Given the description of an element on the screen output the (x, y) to click on. 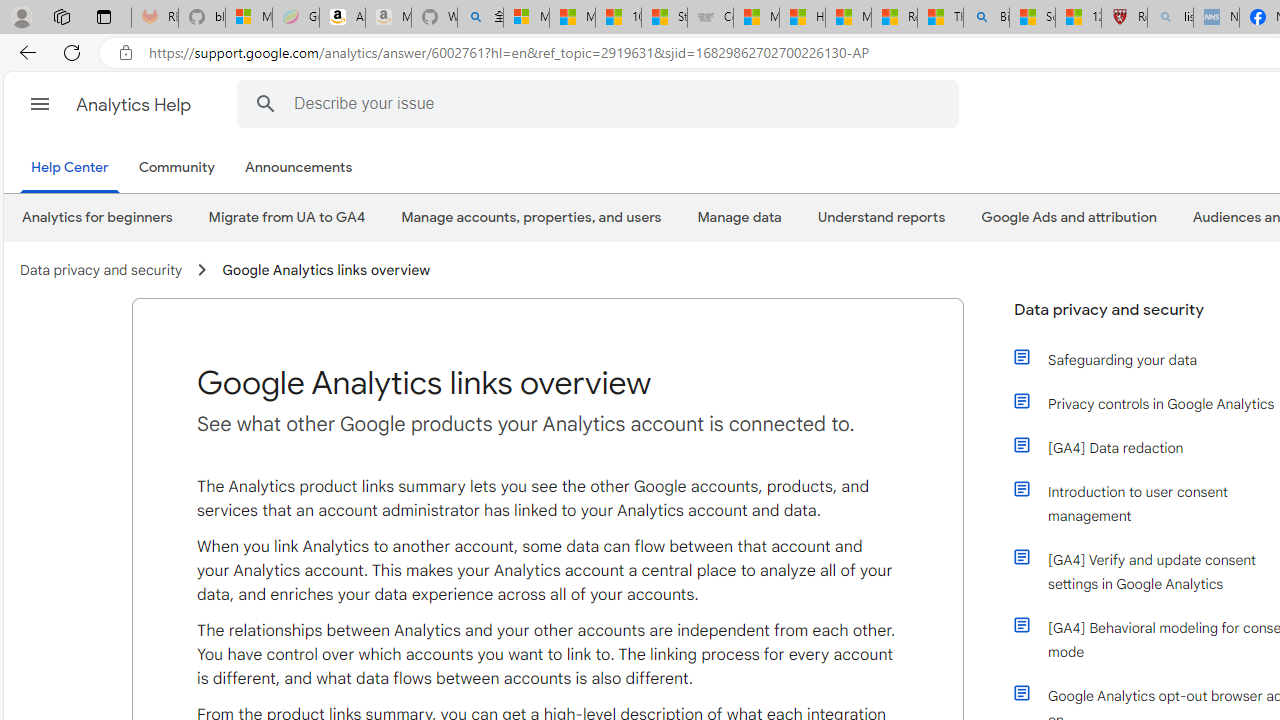
How I Got Rid of Microsoft Edge's Unnecessary Features (802, 17)
Help Center (74, 168)
12 Popular Science Lies that Must be Corrected (1078, 17)
Combat Siege (710, 17)
Understand reports (880, 217)
Migrate from UA to GA4 (287, 217)
Manage data (739, 217)
Google Analytics links overview (325, 269)
Robert H. Shmerling, MD - Harvard Health (1124, 17)
